Given the description of an element on the screen output the (x, y) to click on. 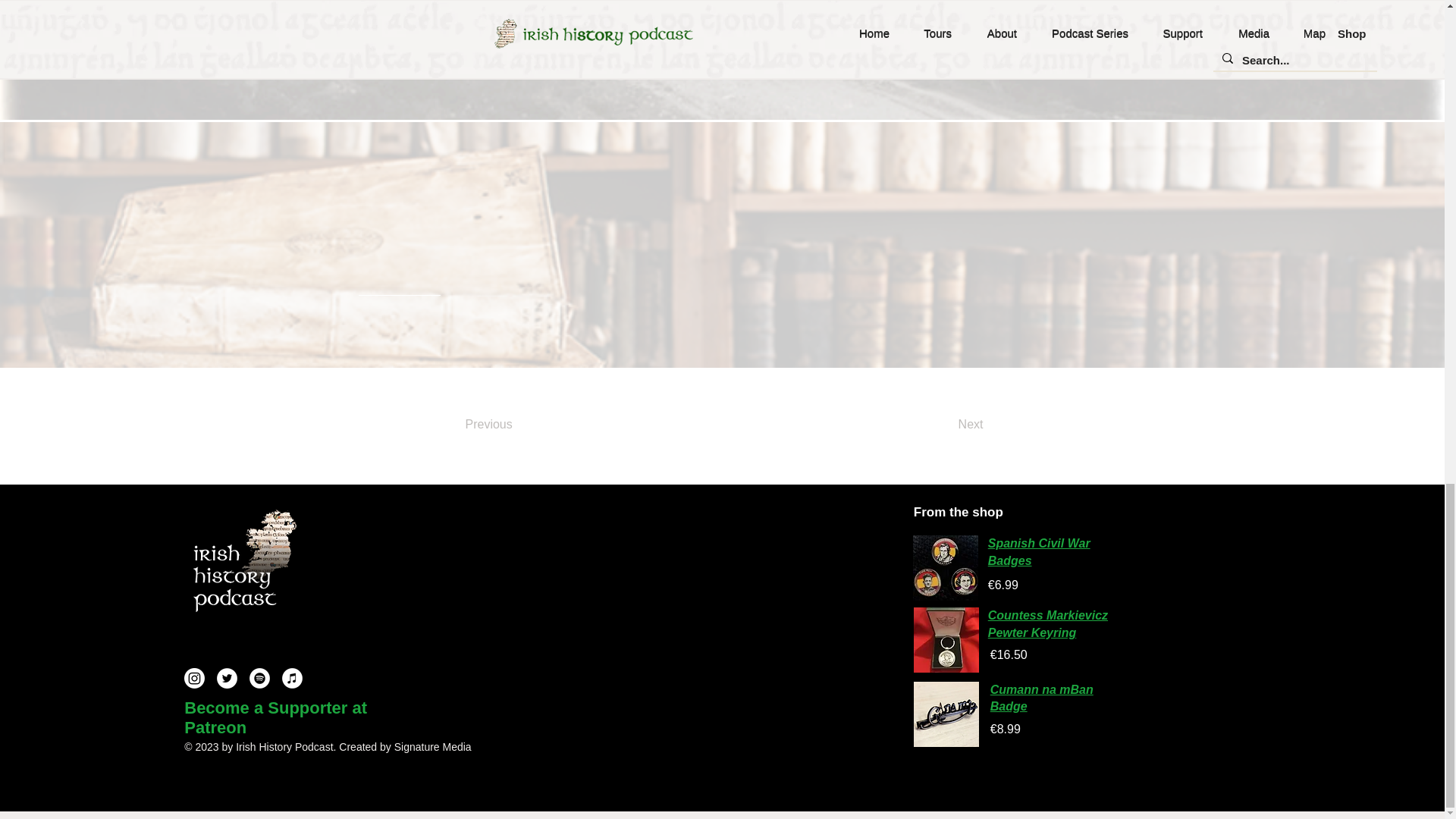
Order Your Copy (1053, 43)
Become a Supporter at Patreon (275, 717)
Previous (526, 424)
Next (932, 424)
Countess Markievicz Pewter Keyring (1048, 623)
Cumann na mBan Badge (1041, 697)
Spanish Civil War Badges (1039, 551)
